Given the description of an element on the screen output the (x, y) to click on. 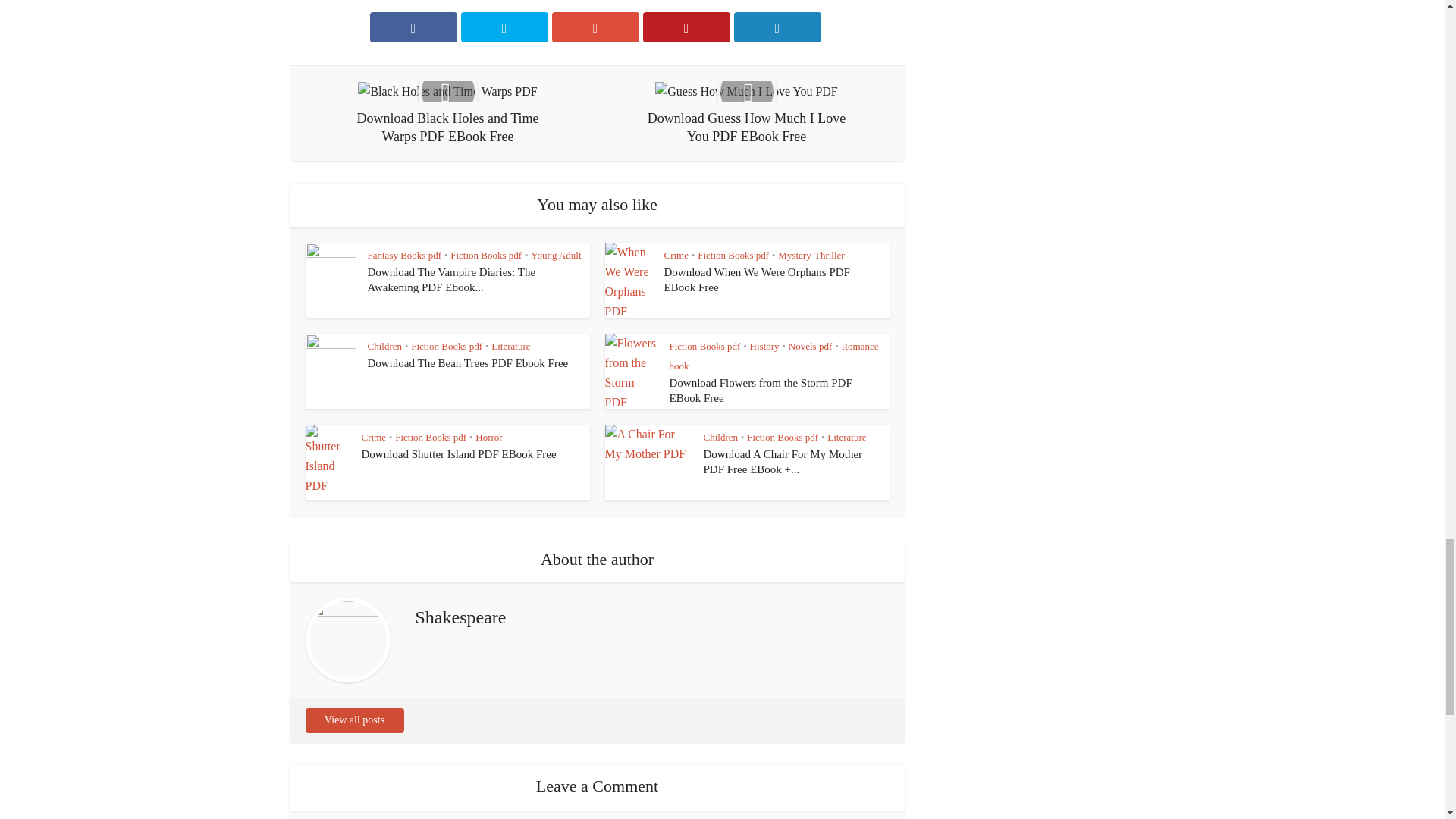
Download Black Holes and Time Warps PDF EBook Free (447, 113)
Fiction Books pdf (732, 255)
Download The Vampire Diaries: The Awakening PDF Ebook Free (450, 279)
Download The Vampire Diaries: The Awakening PDF Ebook... (450, 279)
Download When We Were Orphans PDF EBook Free (756, 279)
Download Shutter Island PDF EBook Free (458, 453)
Download The Bean Trees PDF Ebook Free (466, 363)
Download Guess How Much I Love You PDF EBook Free (746, 113)
Download Flowers from the Storm PDF EBook Free (759, 390)
Fantasy Books pdf (403, 255)
Young Adult (555, 255)
Crime (675, 255)
Fiction Books pdf (485, 255)
